Given the description of an element on the screen output the (x, y) to click on. 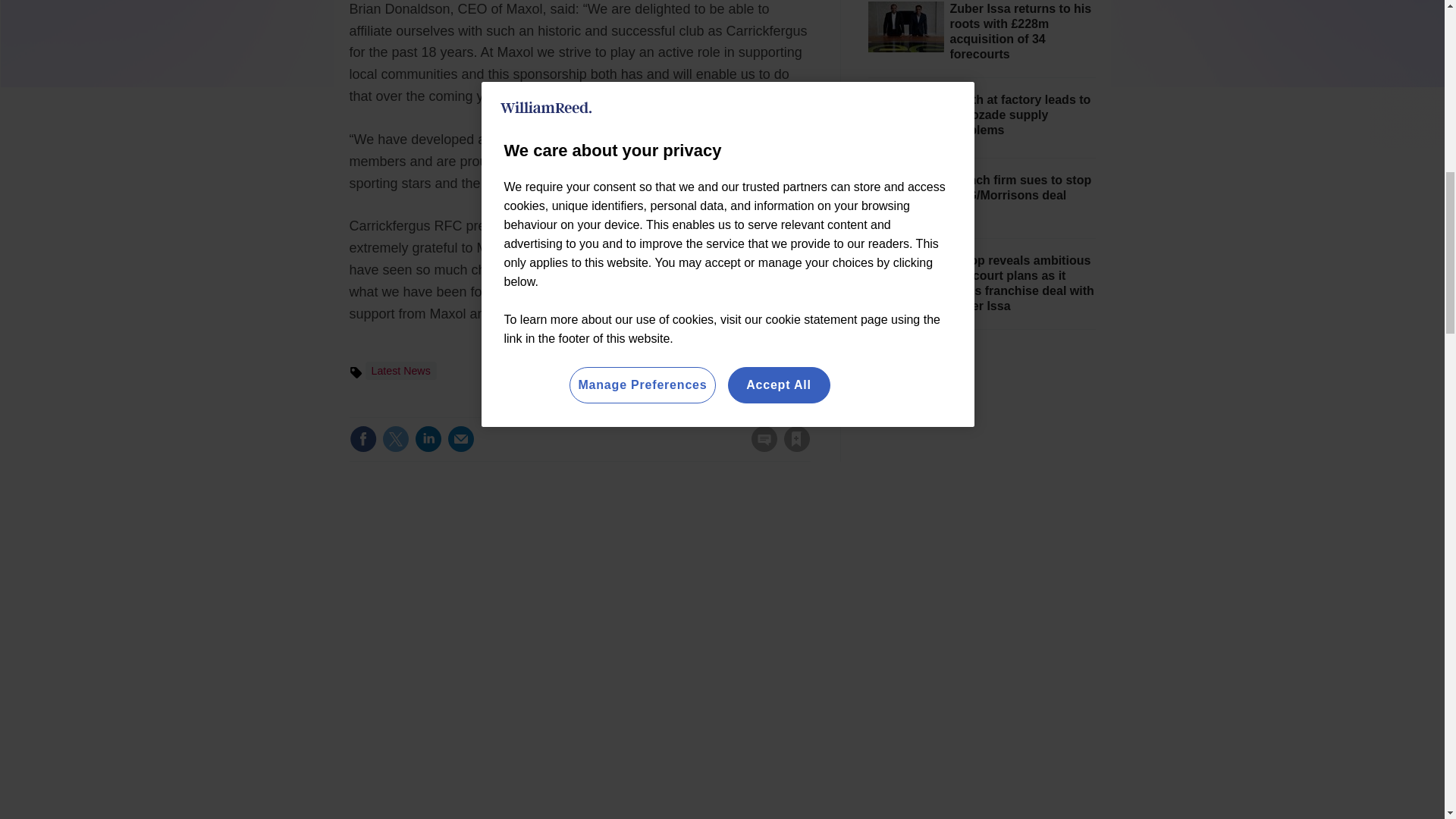
Email this article (460, 438)
No comments (759, 447)
Share this on Facebook (362, 438)
Share this on Twitter (395, 438)
Share this on Linked in (427, 438)
